Given the description of an element on the screen output the (x, y) to click on. 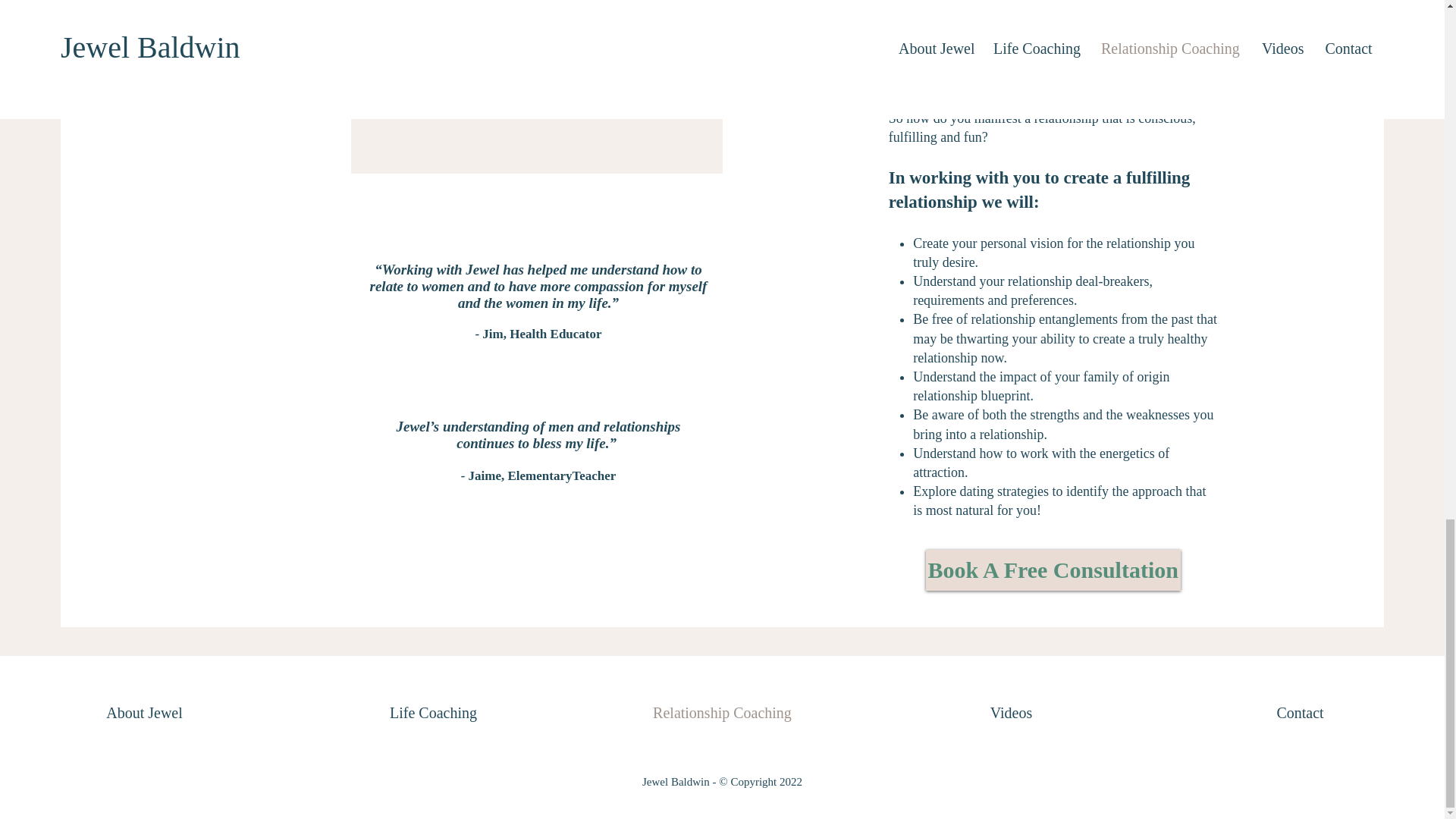
Relationship Coaching (722, 712)
Life Coaching (433, 712)
Videos (1011, 712)
Book A Free Consultation (1053, 569)
About Jewel (144, 712)
